Given the description of an element on the screen output the (x, y) to click on. 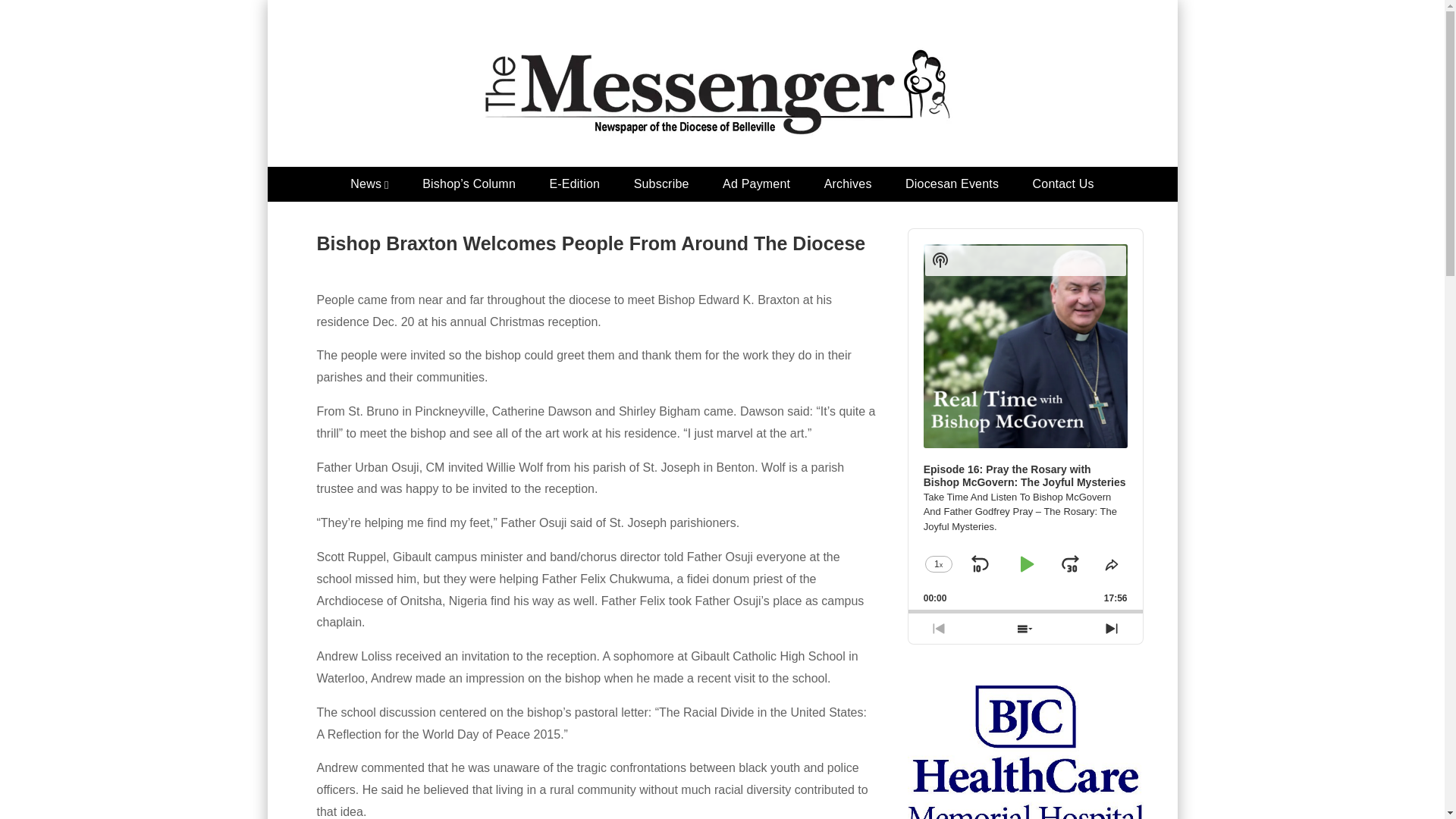
Subscribe (661, 184)
E-Edition (574, 184)
Ad Payment (756, 184)
News (369, 184)
Archives (847, 184)
